Given the description of an element on the screen output the (x, y) to click on. 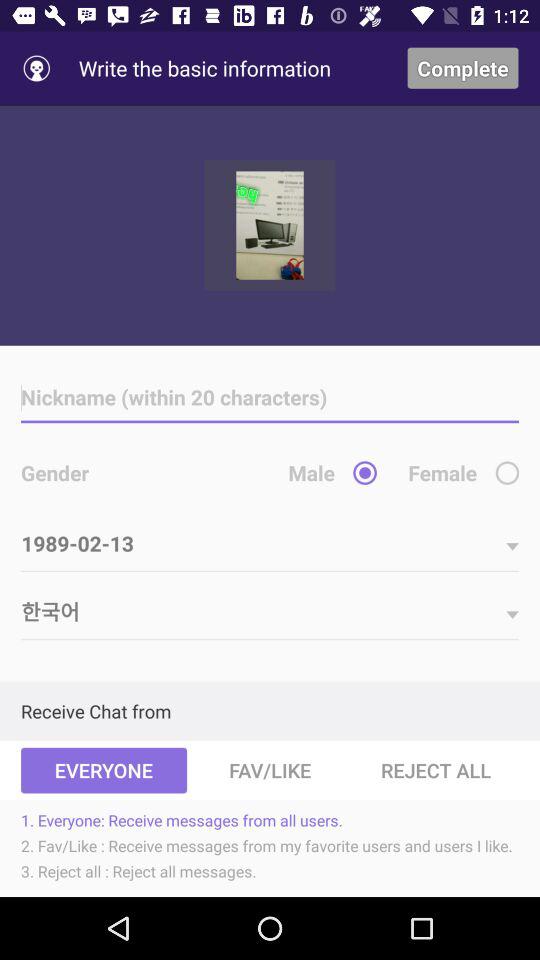
type your nickname (270, 398)
